Given the description of an element on the screen output the (x, y) to click on. 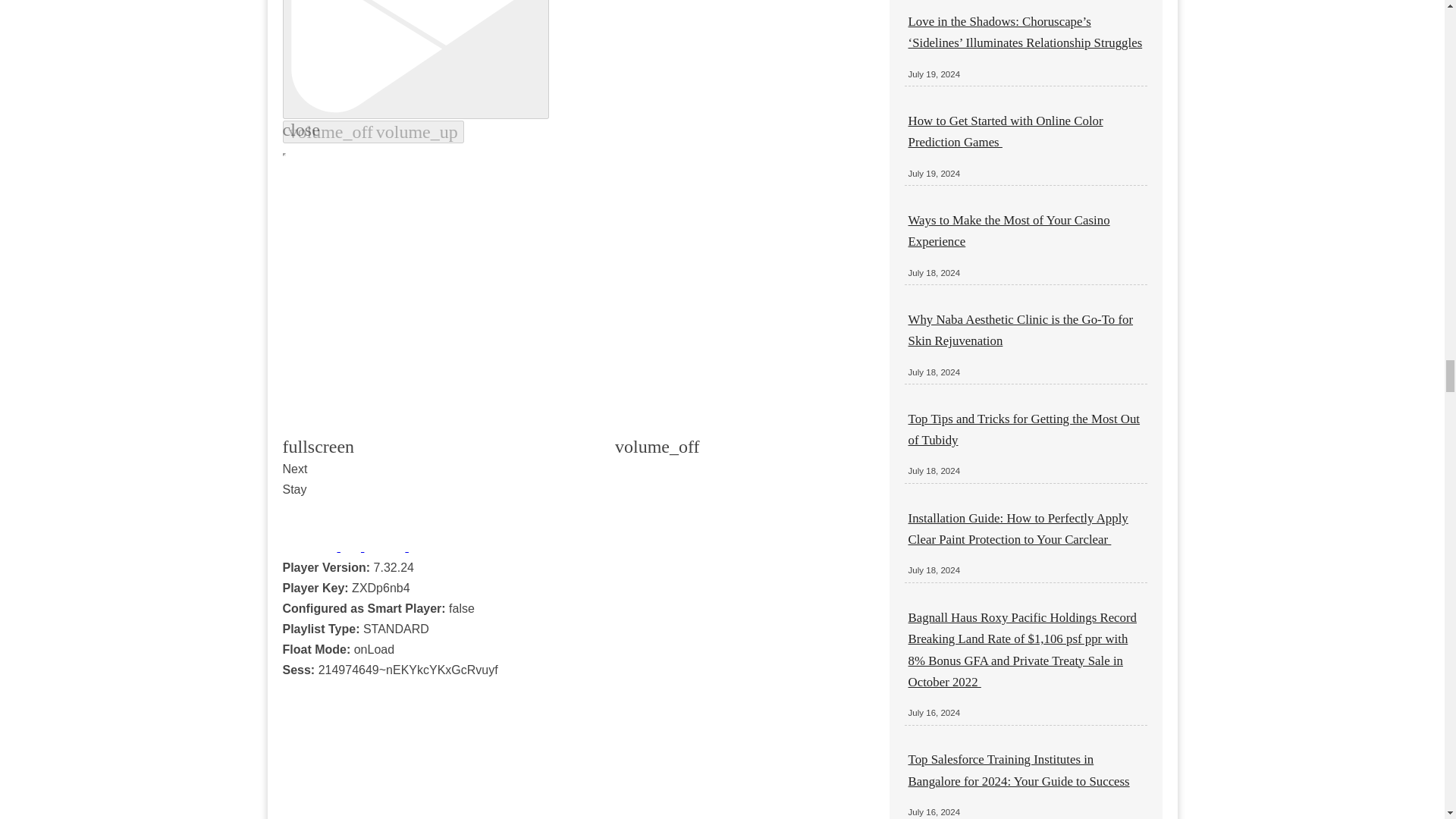
How to Get Started with Online Color Prediction Games  (1005, 131)
Why Naba Aesthetic Clinic is the Go-To for Skin Rejuvenation (1021, 330)
Ways to Make the Most of Your Casino Experience (1008, 230)
